Given the description of an element on the screen output the (x, y) to click on. 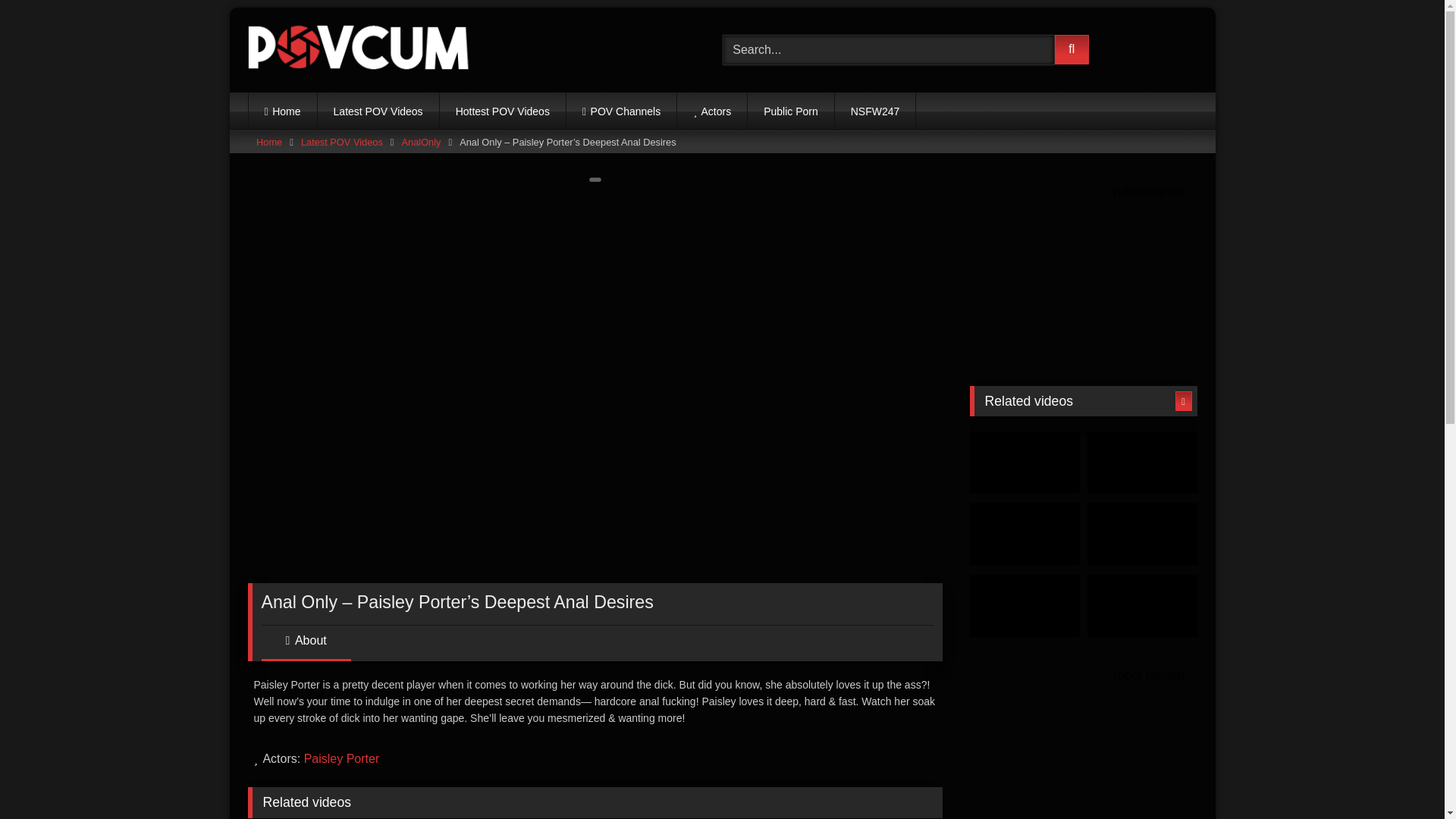
AnalOnly (421, 142)
Paisley Porter (342, 758)
Latest POV Videos (378, 111)
Actors (711, 111)
Search... (888, 50)
NSFW247 (874, 111)
About (305, 645)
Home (282, 111)
Public Porn (791, 111)
Home (269, 142)
